Given the description of an element on the screen output the (x, y) to click on. 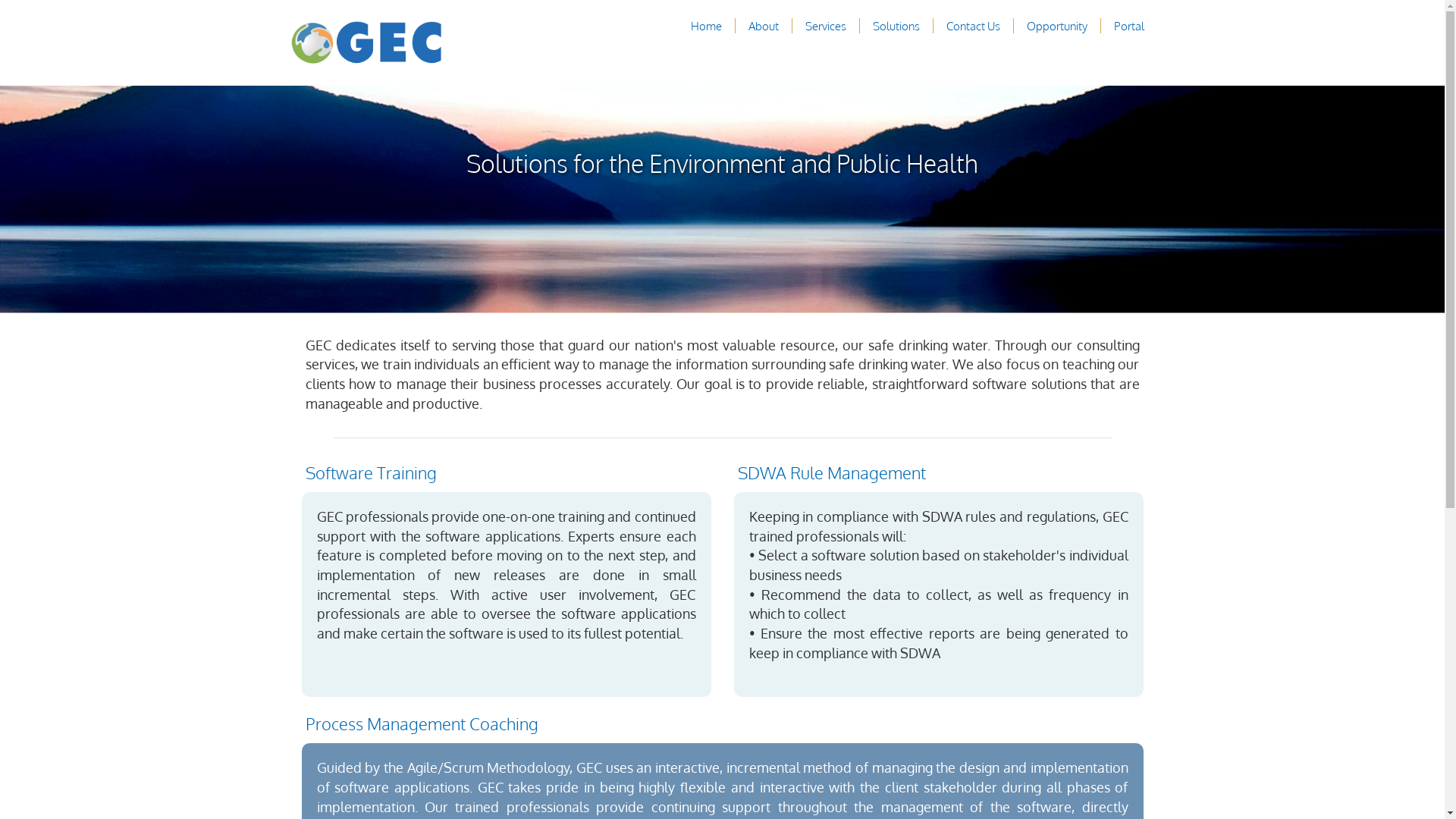
Opportunity Element type: text (1057, 25)
Portal Element type: text (1128, 25)
Contact Us Element type: text (972, 25)
About Element type: text (762, 25)
Home Element type: text (705, 25)
Solutions Element type: text (895, 25)
Services Element type: text (825, 25)
